Given the description of an element on the screen output the (x, y) to click on. 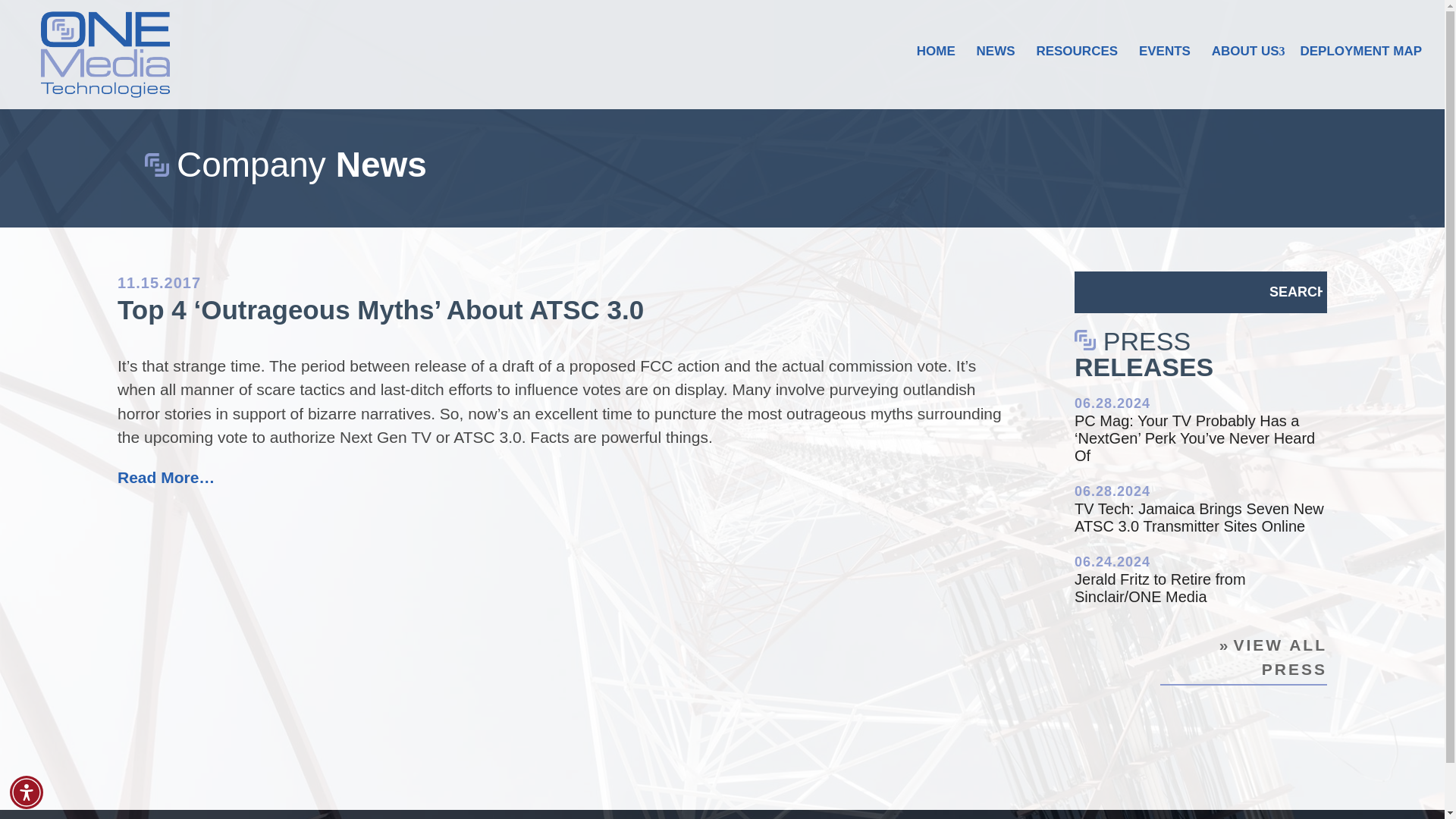
RESOURCES (1076, 76)
Search (1295, 291)
ABOUT US (1245, 74)
Accessibility Menu (26, 792)
VIEW ALL PRESS (1243, 659)
Search (1295, 291)
DEPLOYMENT MAP (1361, 76)
